Given the description of an element on the screen output the (x, y) to click on. 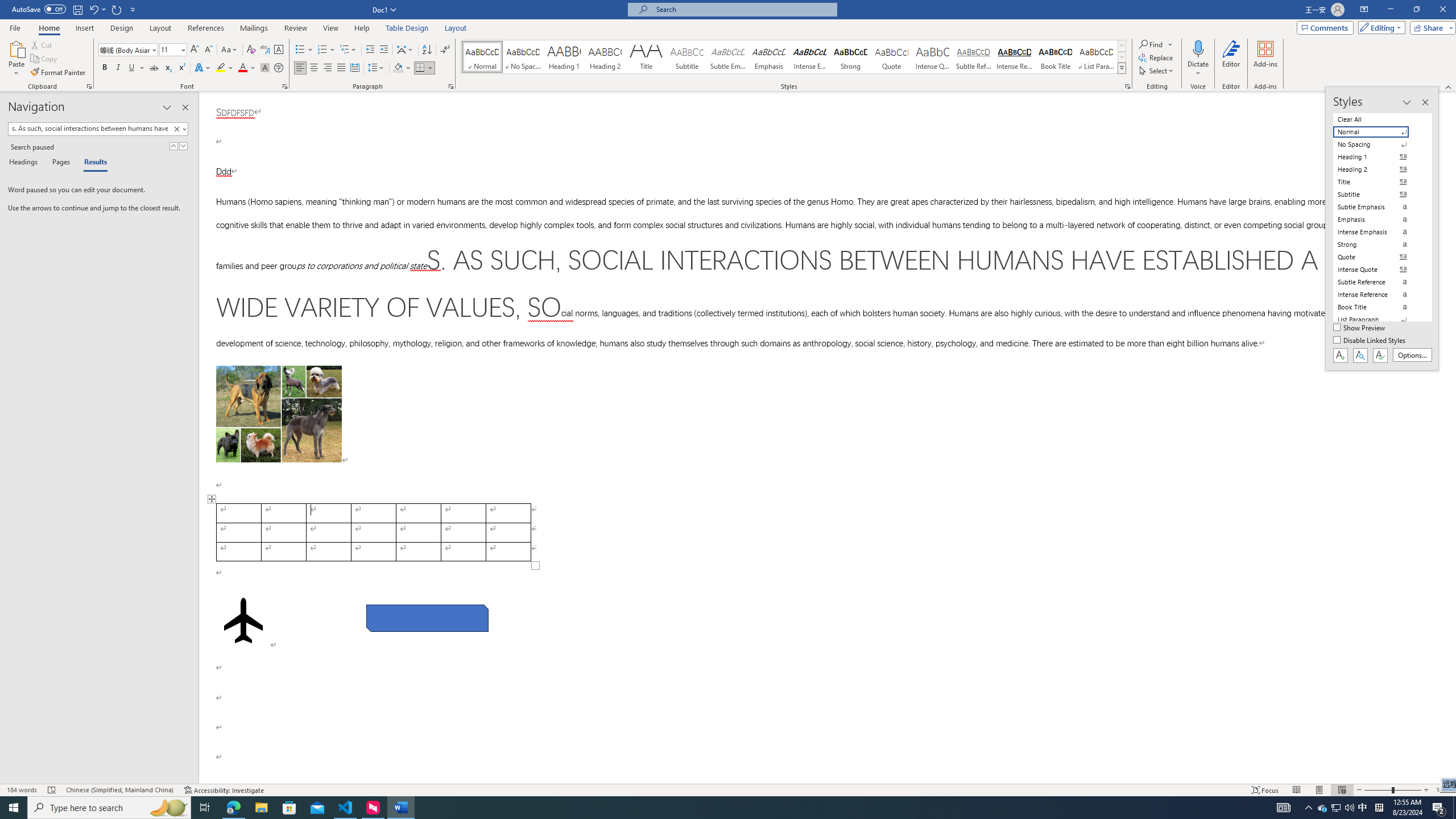
Asian Layout (405, 49)
Row Down (1121, 56)
Airplane with solid fill (242, 619)
Italic (118, 67)
Text Effects and Typography (202, 67)
No Spacing (1377, 144)
Headings (25, 162)
Intense Quote (932, 56)
Previous Result (173, 145)
Book Title (1055, 56)
Cut (42, 44)
Line and Paragraph Spacing (376, 67)
